Given the description of an element on the screen output the (x, y) to click on. 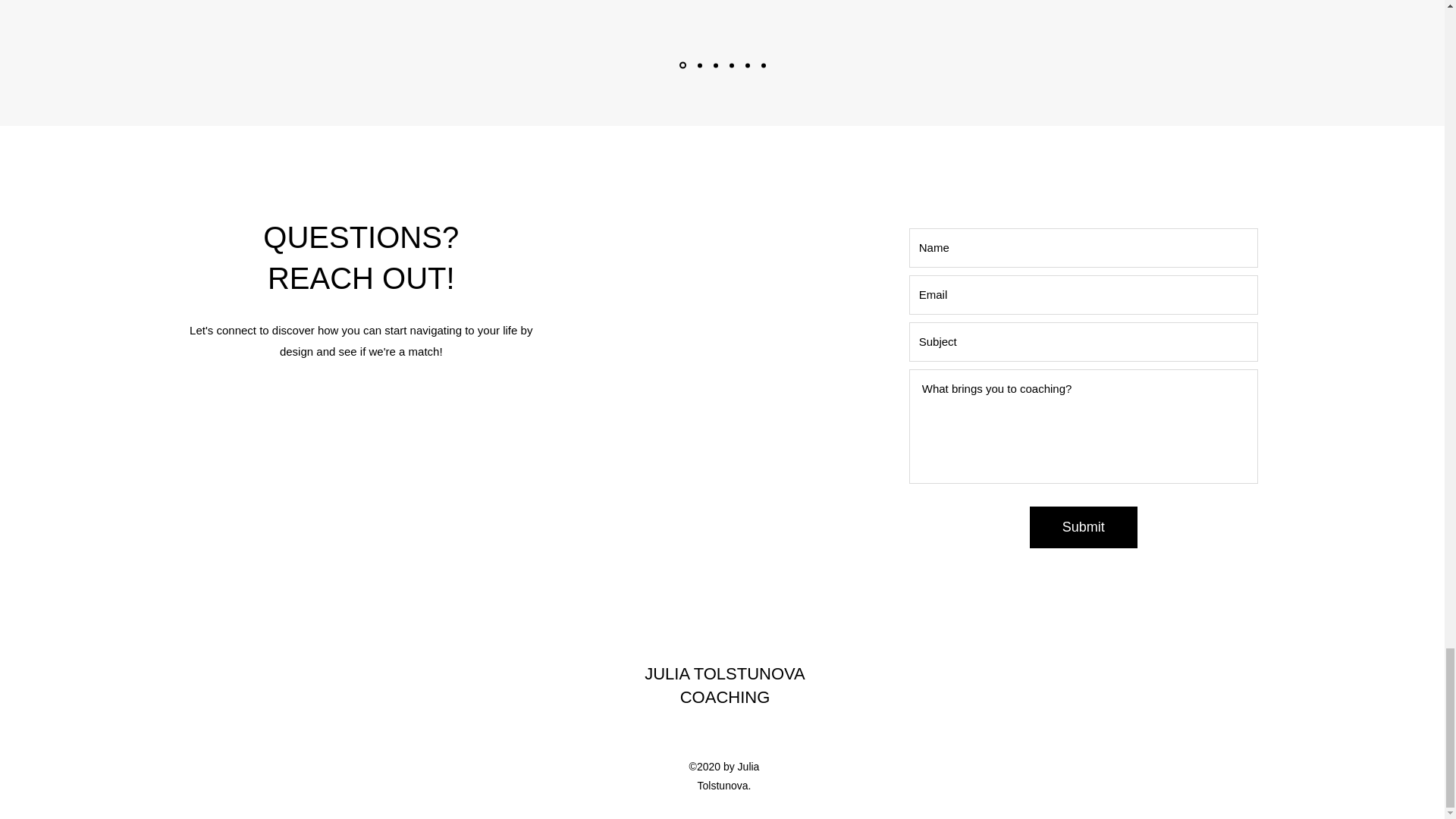
Submit (1083, 526)
